Given the description of an element on the screen output the (x, y) to click on. 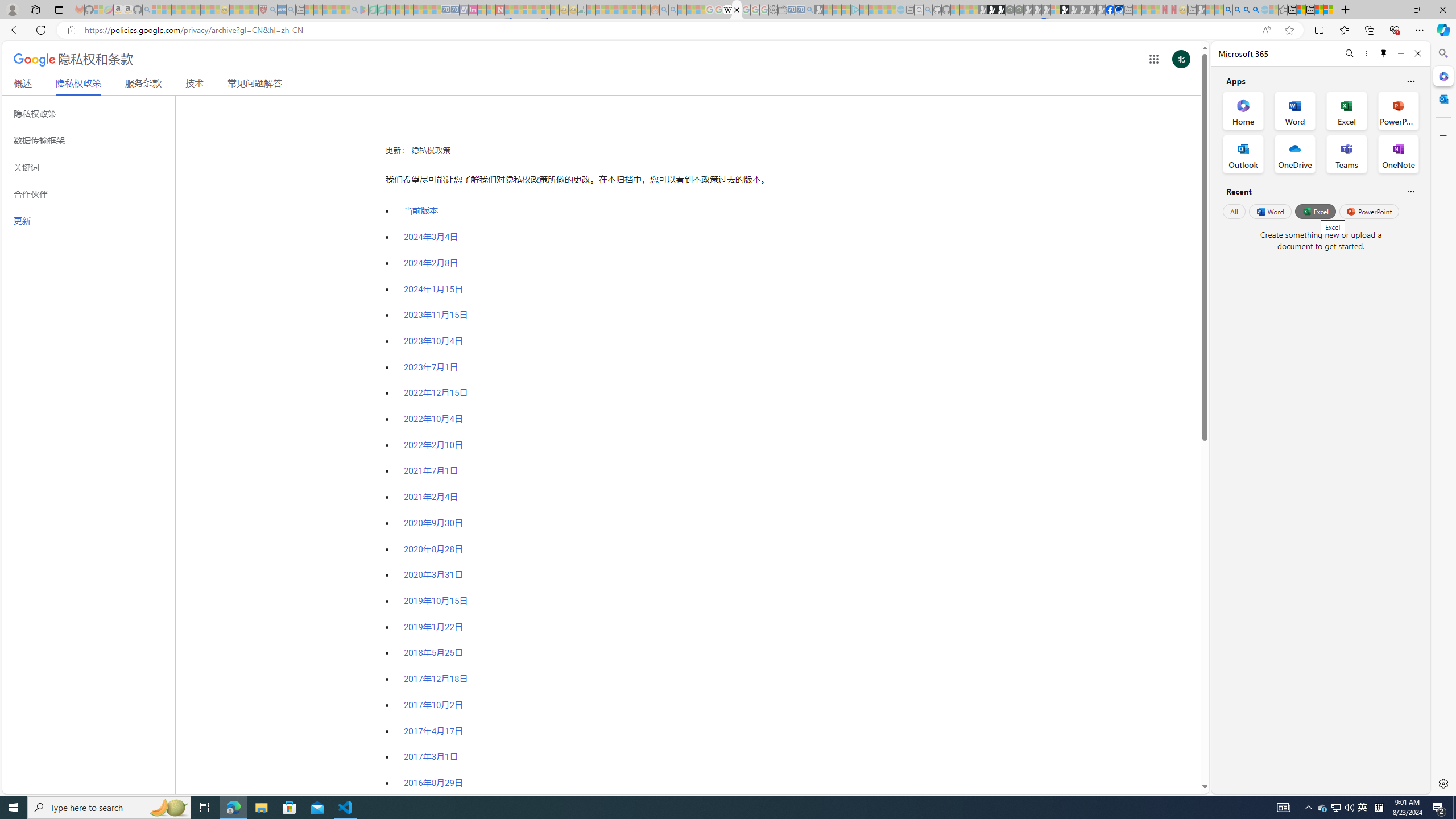
Cheap Car Rentals - Save70.com - Sleeping (799, 9)
Google Chrome Internet Browser Download - Search Images (1255, 9)
Word (1269, 210)
